Given the description of an element on the screen output the (x, y) to click on. 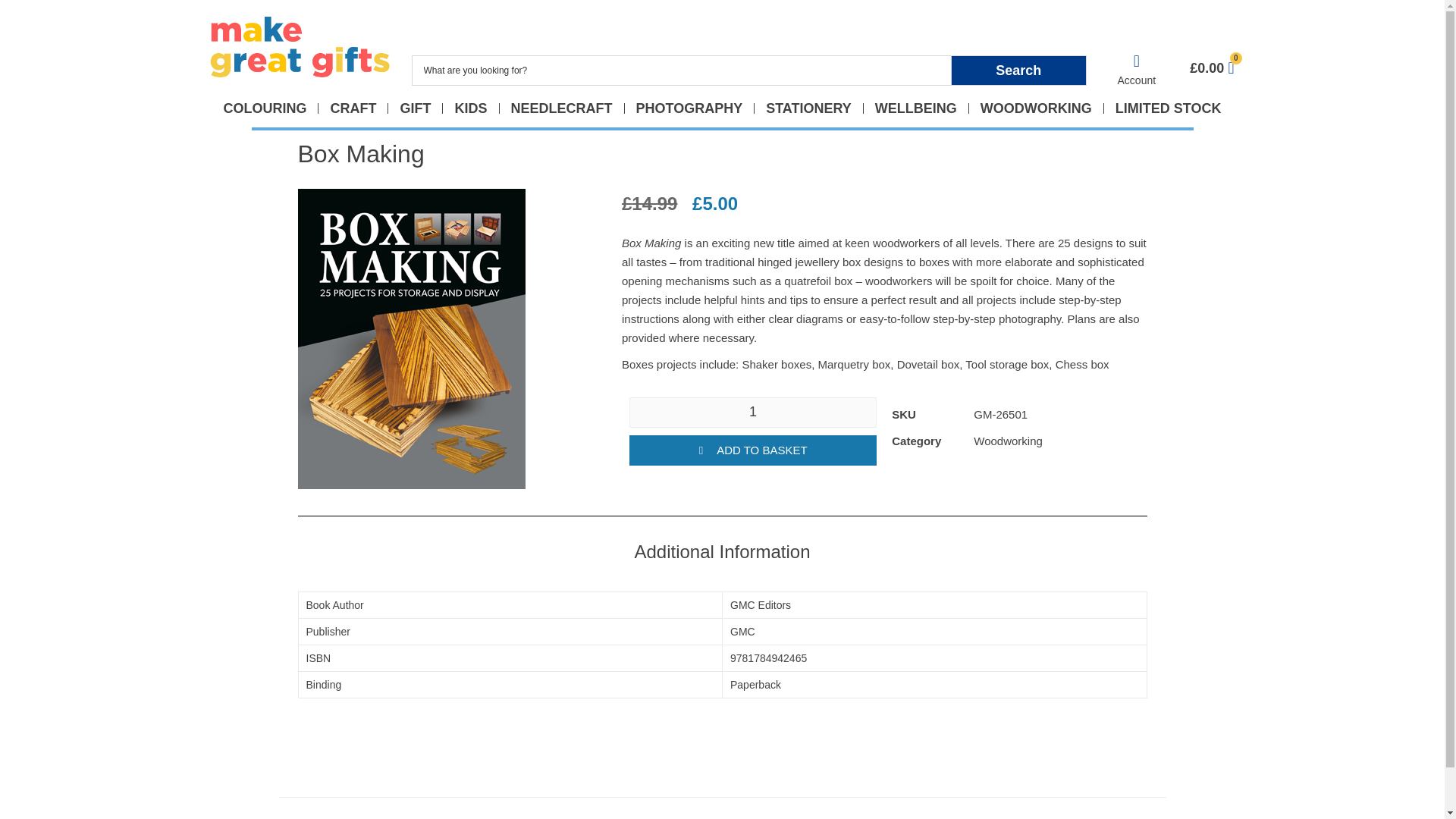
Woodworking (1008, 440)
COLOURING (264, 108)
ADD TO BASKET (752, 450)
LIMITED STOCK (1168, 108)
1 (752, 412)
WELLBEING (915, 108)
STATIONERY (808, 108)
CRAFT (352, 108)
KIDS (470, 108)
NEEDLECRAFT (561, 108)
